Given the description of an element on the screen output the (x, y) to click on. 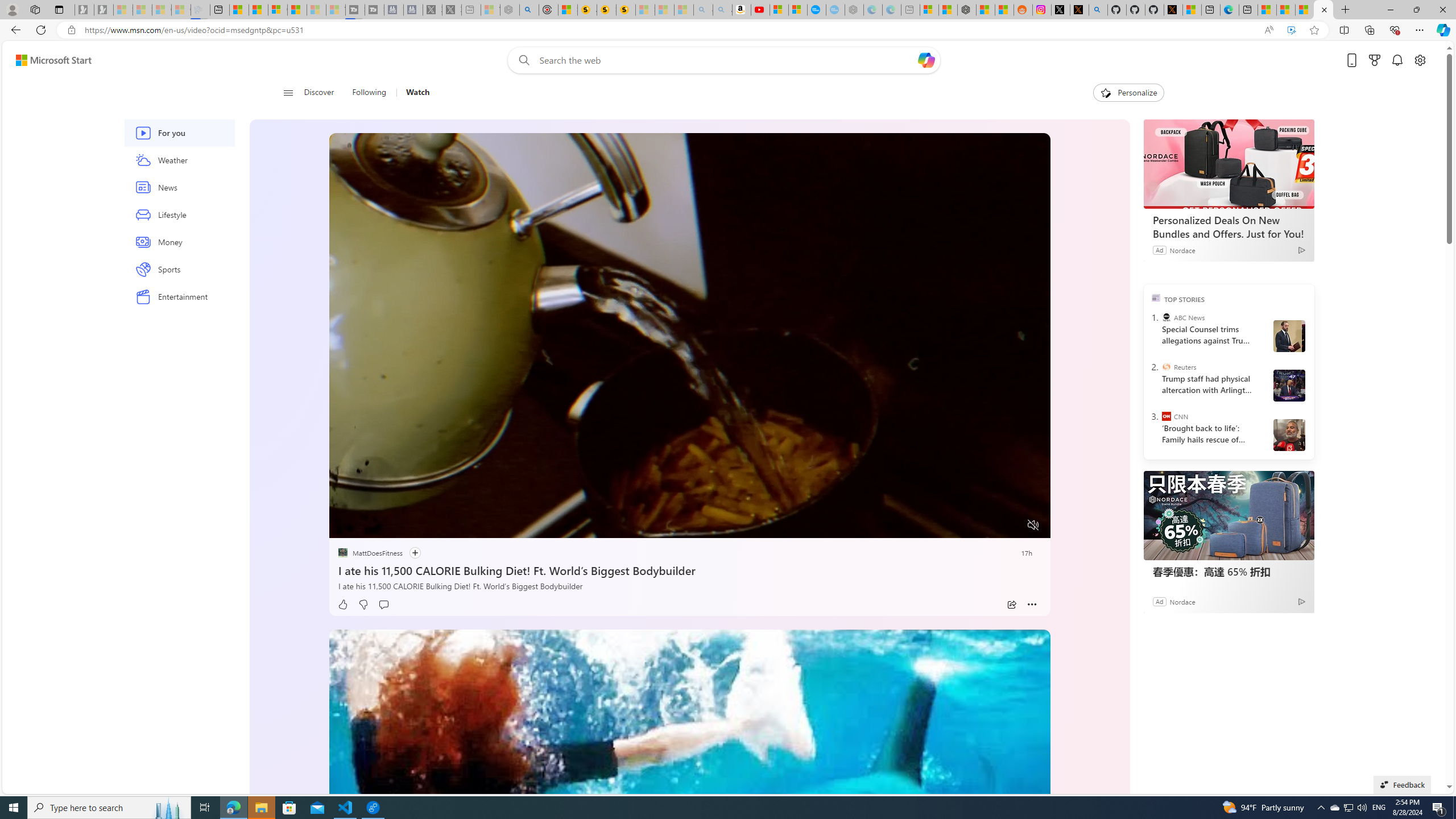
Log in to X / X (1060, 9)
Seek Back (368, 525)
Enter your search term (726, 59)
